Given the description of an element on the screen output the (x, y) to click on. 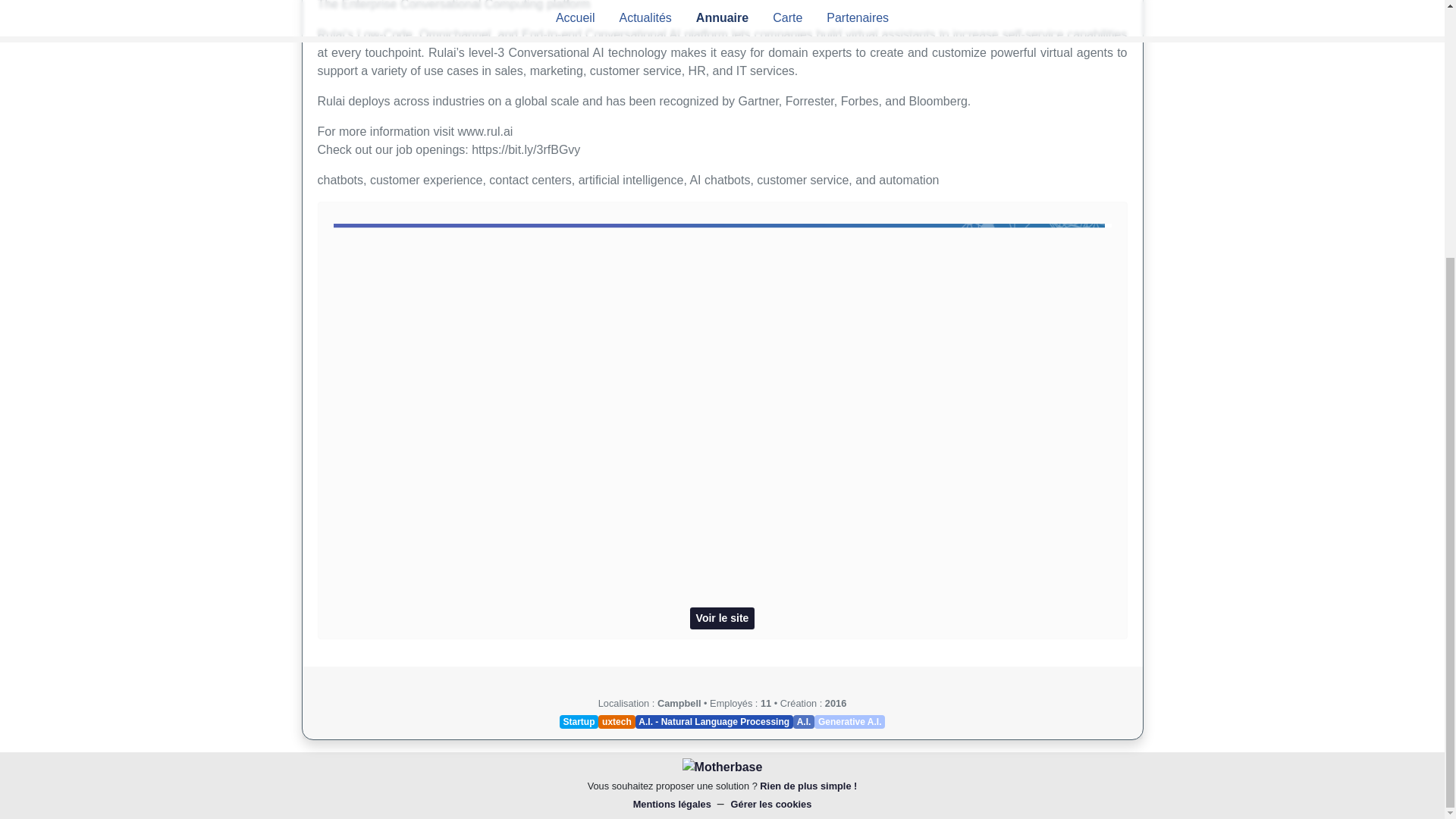
uxtech (616, 721)
Voir le site (722, 618)
A.I. - Natural Language Processing (713, 721)
A.I. (803, 721)
Motherbase.ai (722, 767)
Startup (578, 721)
Generative A.I. (849, 721)
Rien de plus simple ! (808, 785)
